Given the description of an element on the screen output the (x, y) to click on. 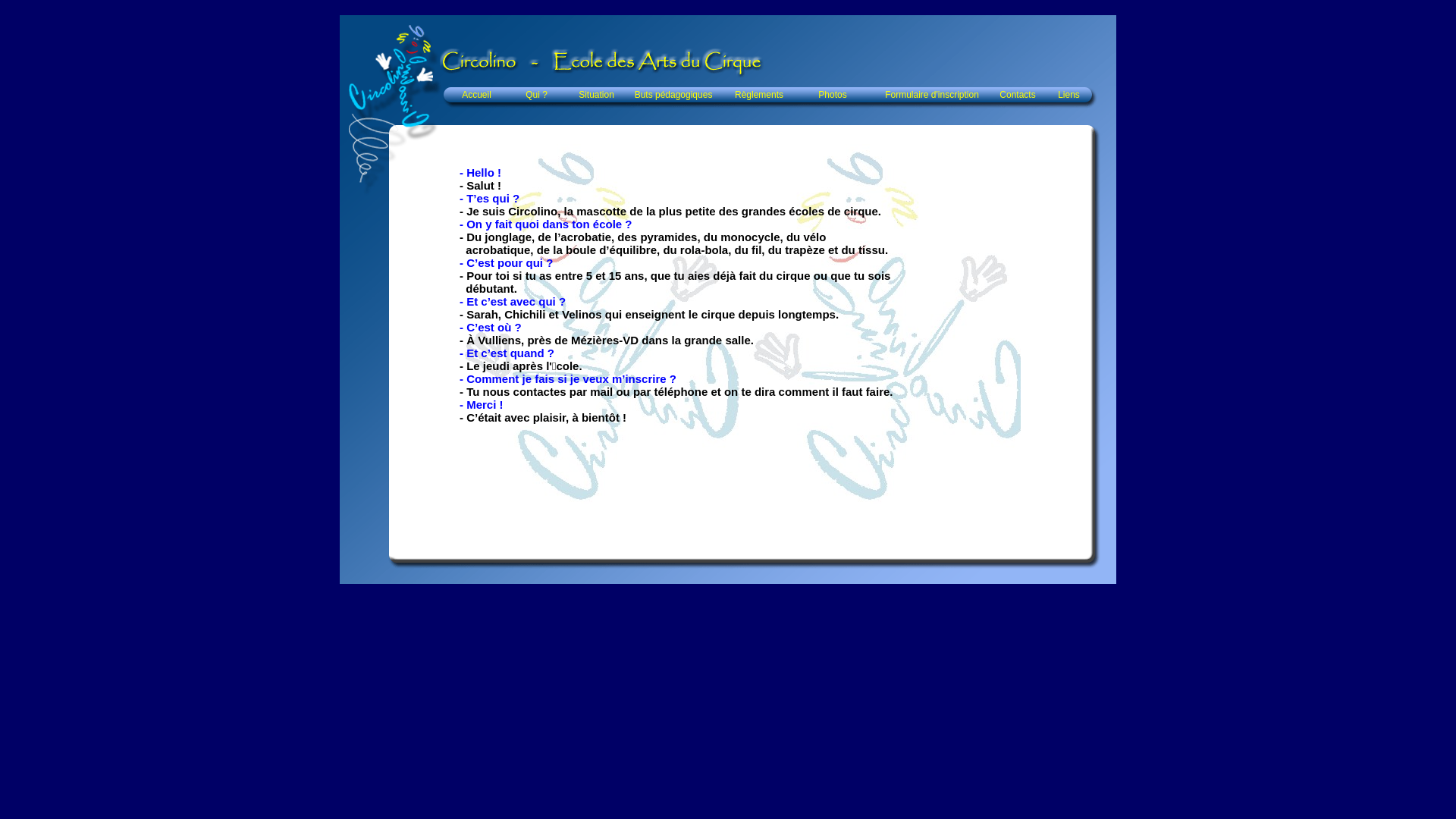
Photos Element type: text (832, 94)
Contacts Element type: text (1017, 94)
Situation Element type: text (596, 94)
Accueil Element type: text (476, 94)
Formulaire d'inscription Element type: text (931, 94)
Qui ? Element type: text (536, 94)
Liens Element type: text (1068, 94)
